Given the description of an element on the screen output the (x, y) to click on. 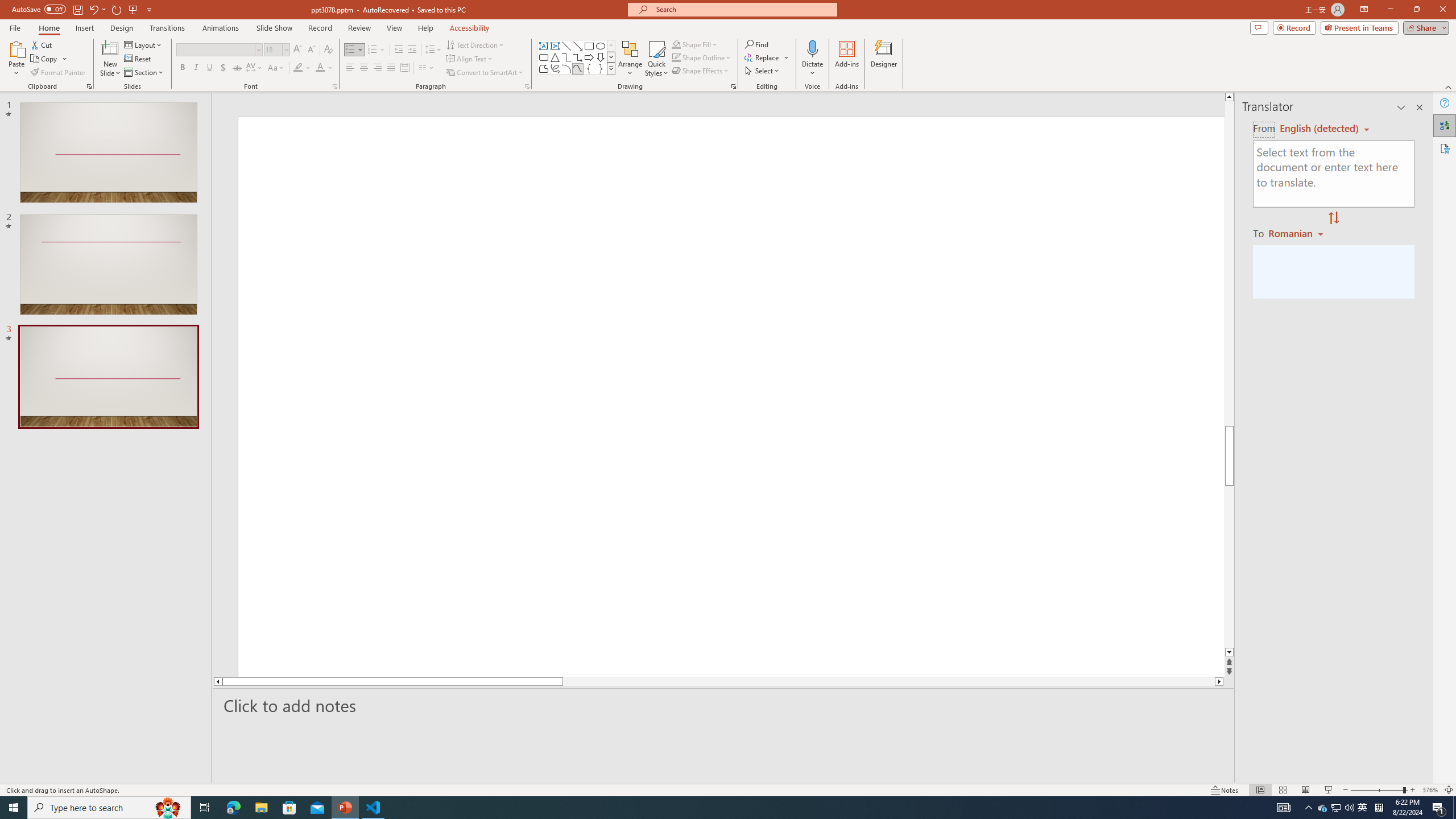
Czech (detected) (1319, 128)
